Given the description of an element on the screen output the (x, y) to click on. 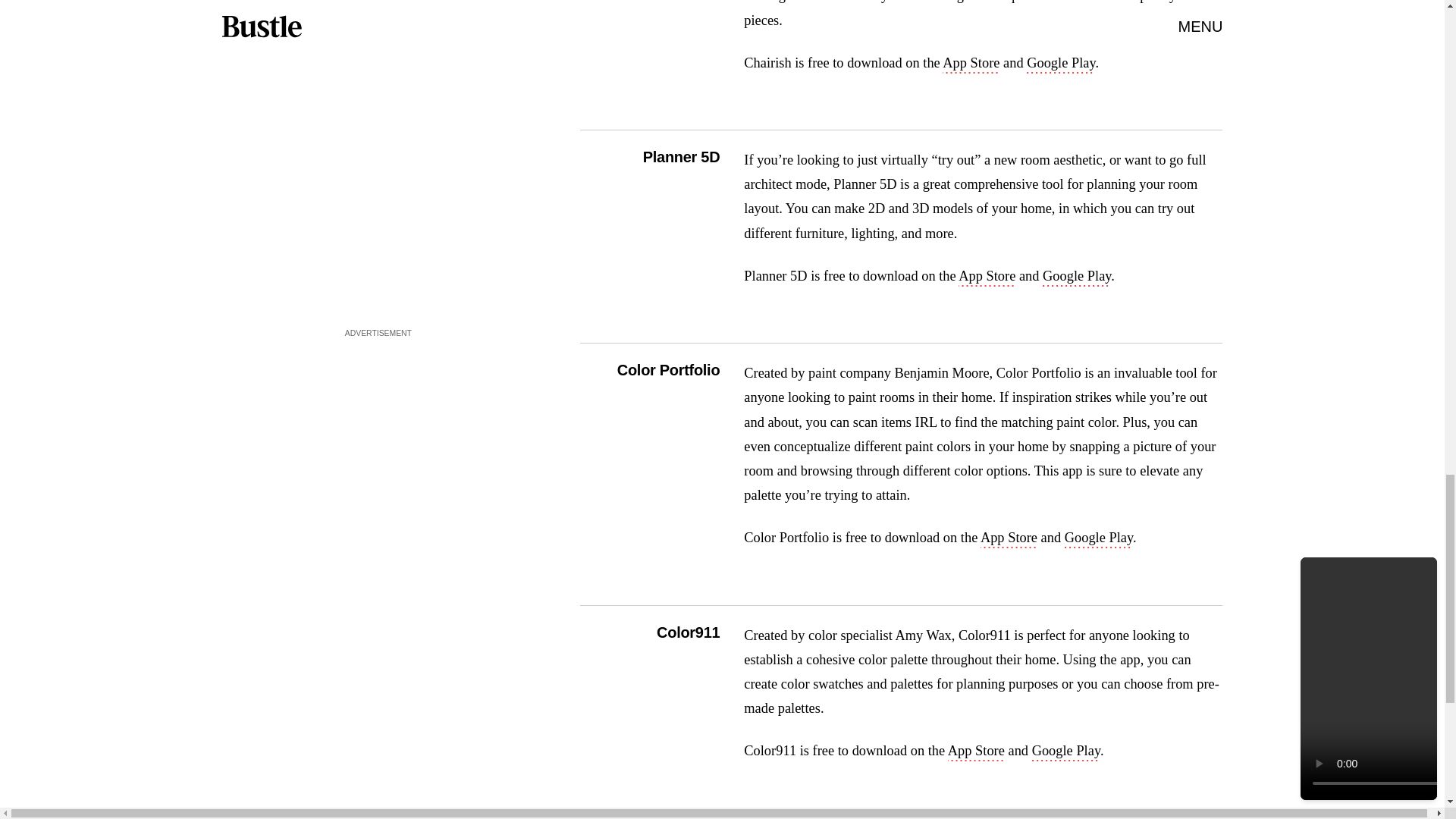
App Store (975, 751)
App Store (970, 64)
Google Play (1098, 538)
Google Play (1060, 64)
Google Play (1076, 277)
Google Play (1066, 751)
App Store (986, 277)
App Store (1007, 538)
